Given the description of an element on the screen output the (x, y) to click on. 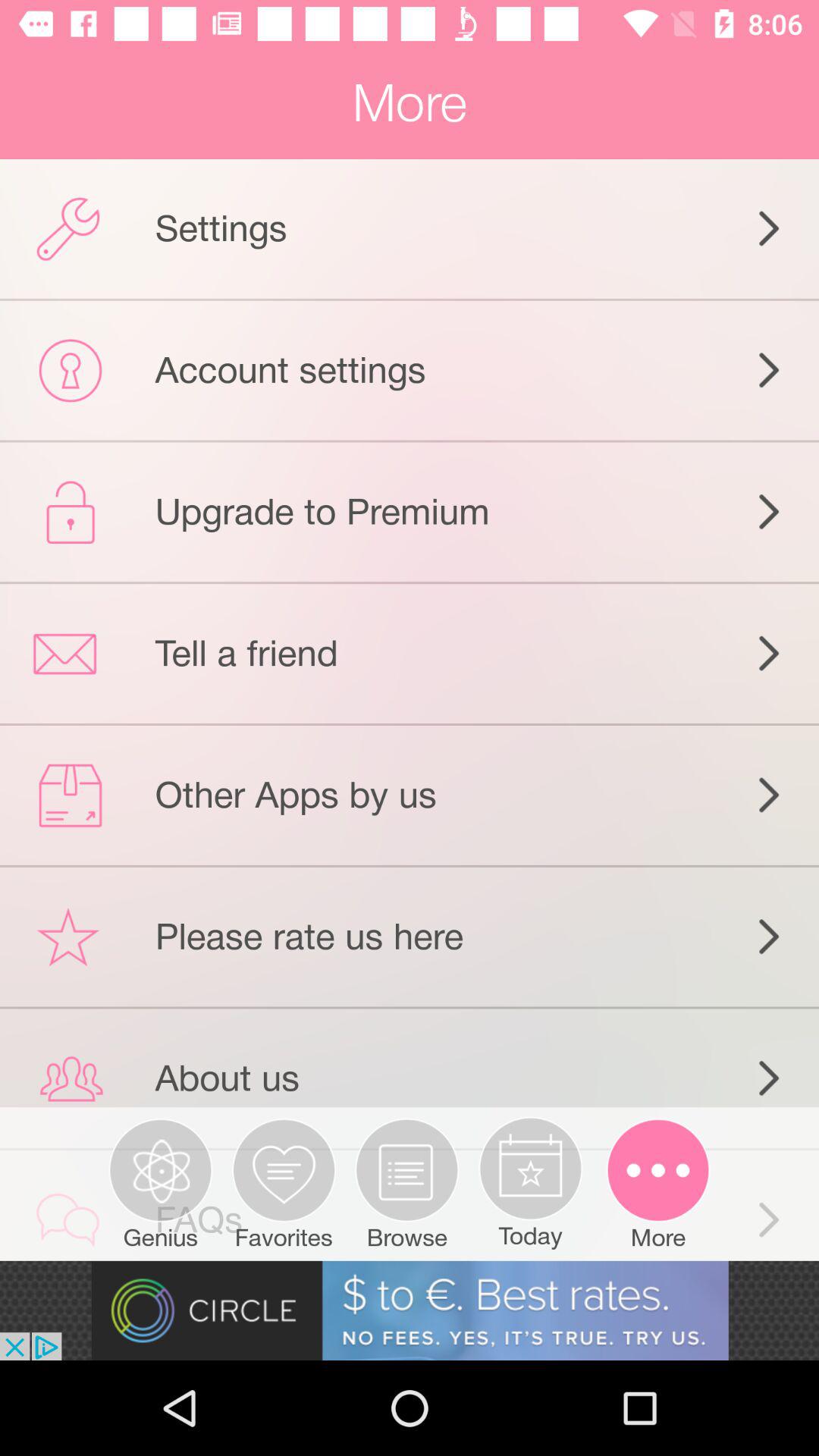
go to circle webpage (409, 1310)
